Given the description of an element on the screen output the (x, y) to click on. 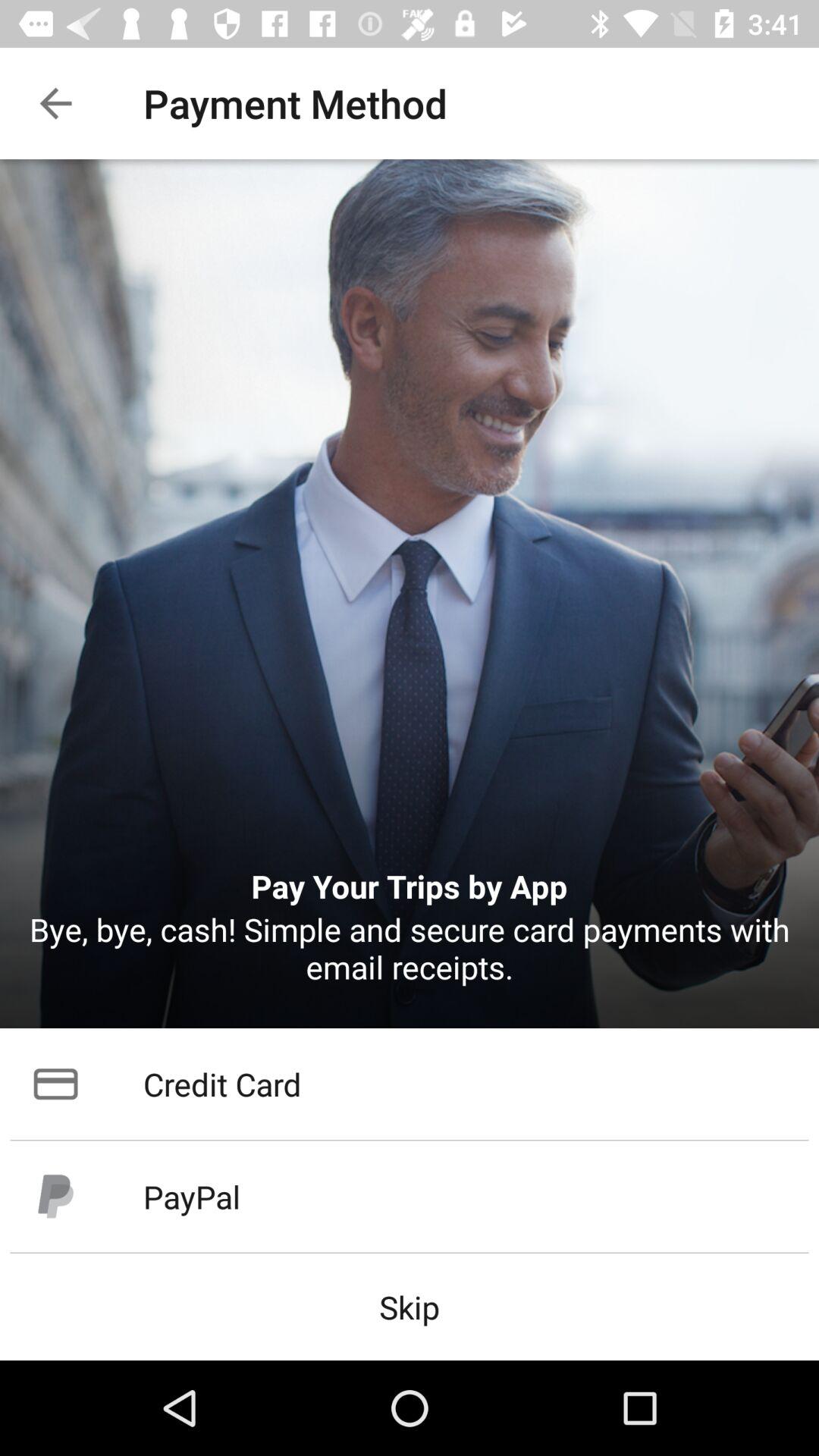
click item to the left of the payment method icon (55, 103)
